Given the description of an element on the screen output the (x, y) to click on. 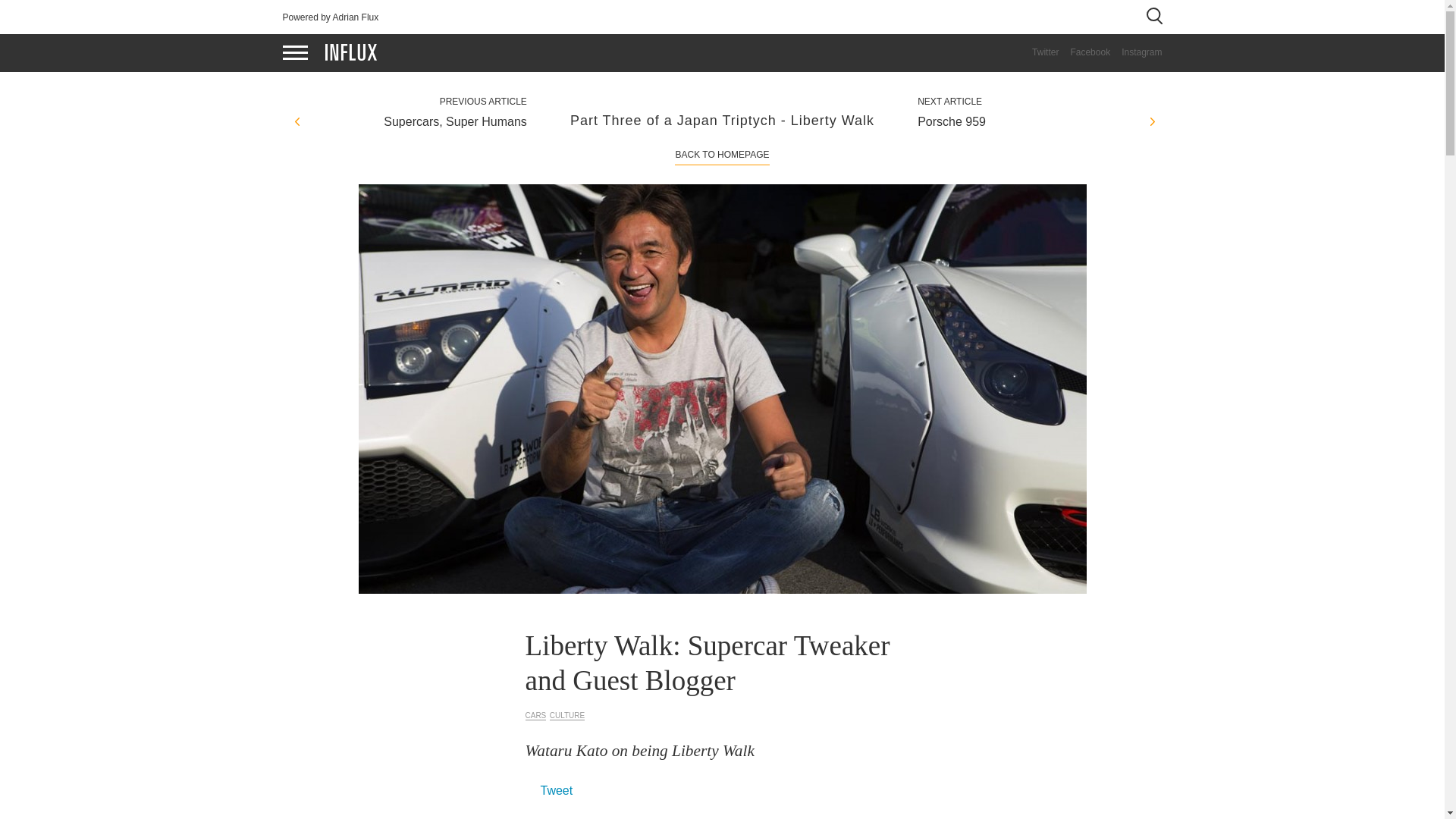
CARS (535, 715)
Facebook (1083, 51)
Tweet (556, 789)
CULTURE (567, 715)
Porsche 959 (1033, 122)
Instagram (1135, 51)
Powered by Adrian Flux (330, 17)
Part Three of a Japan Triptych - Liberty Walk (722, 120)
BACK TO HOMEPAGE (721, 154)
Supercars, Super Humans (409, 122)
